Given the description of an element on the screen output the (x, y) to click on. 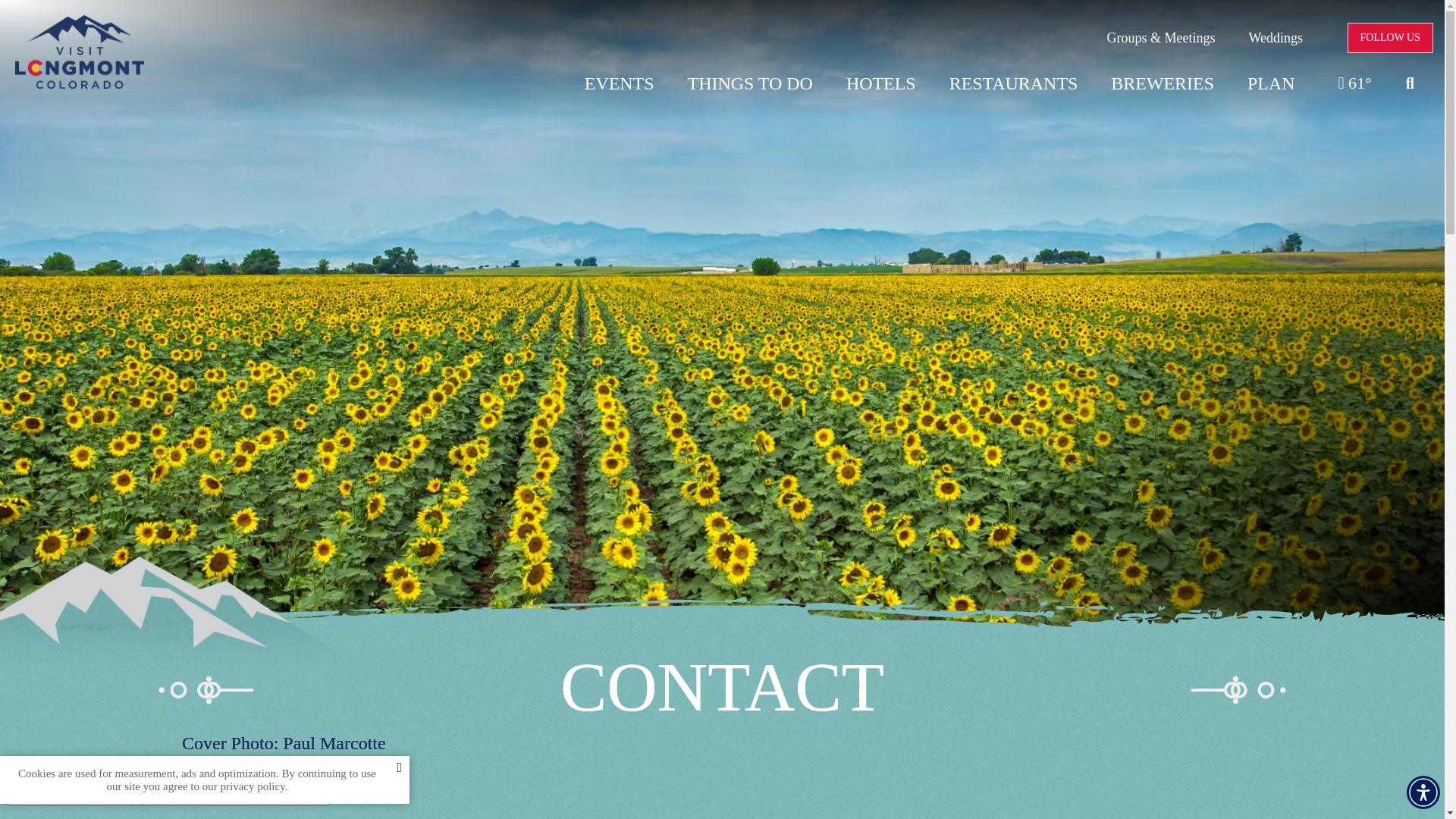
Accessibility Menu (1422, 792)
Weddings (1275, 37)
EVENTS (619, 82)
Weddings (1275, 37)
THINGS TO DO (749, 82)
